Given the description of an element on the screen output the (x, y) to click on. 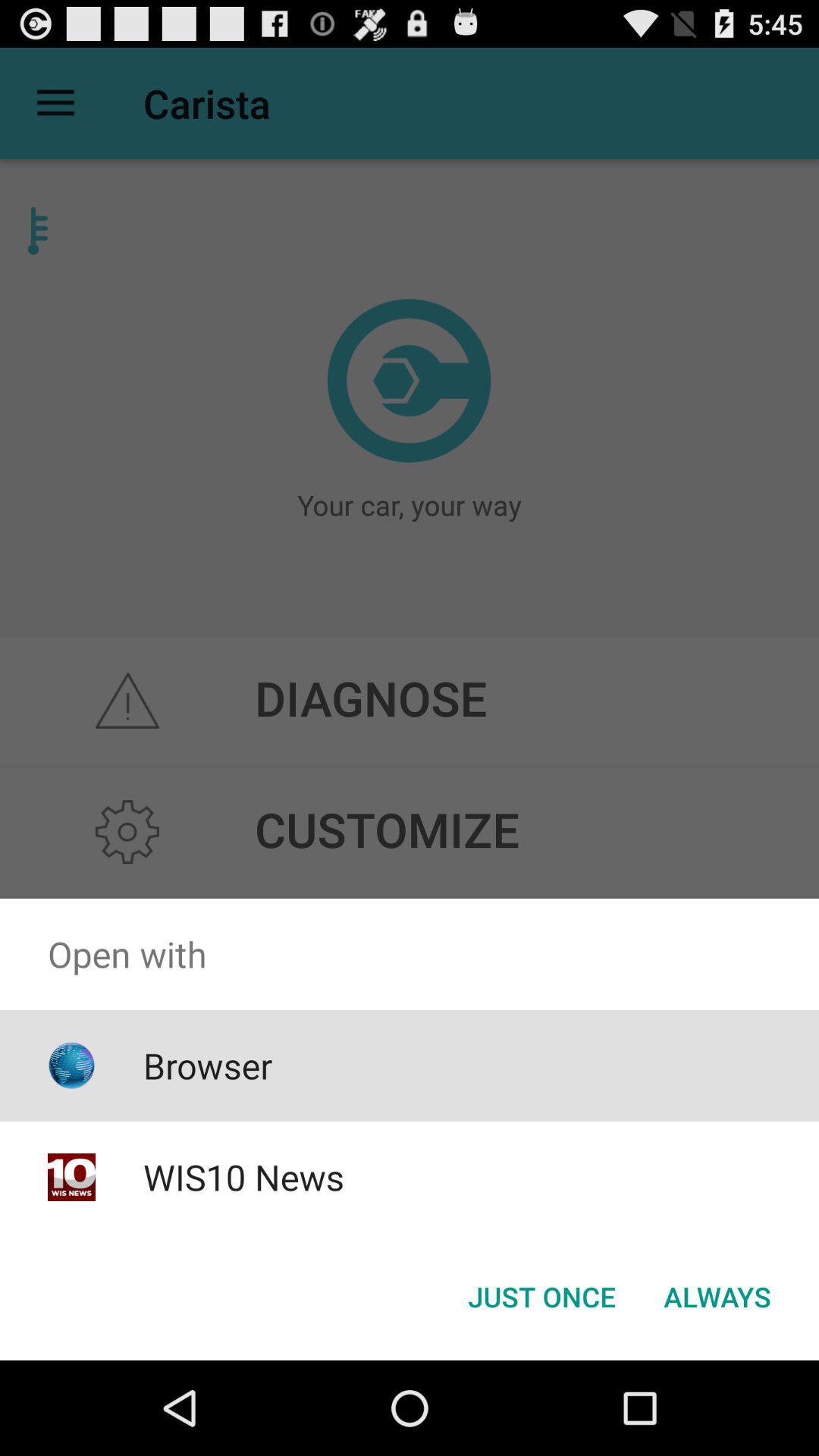
jump until just once button (541, 1296)
